Given the description of an element on the screen output the (x, y) to click on. 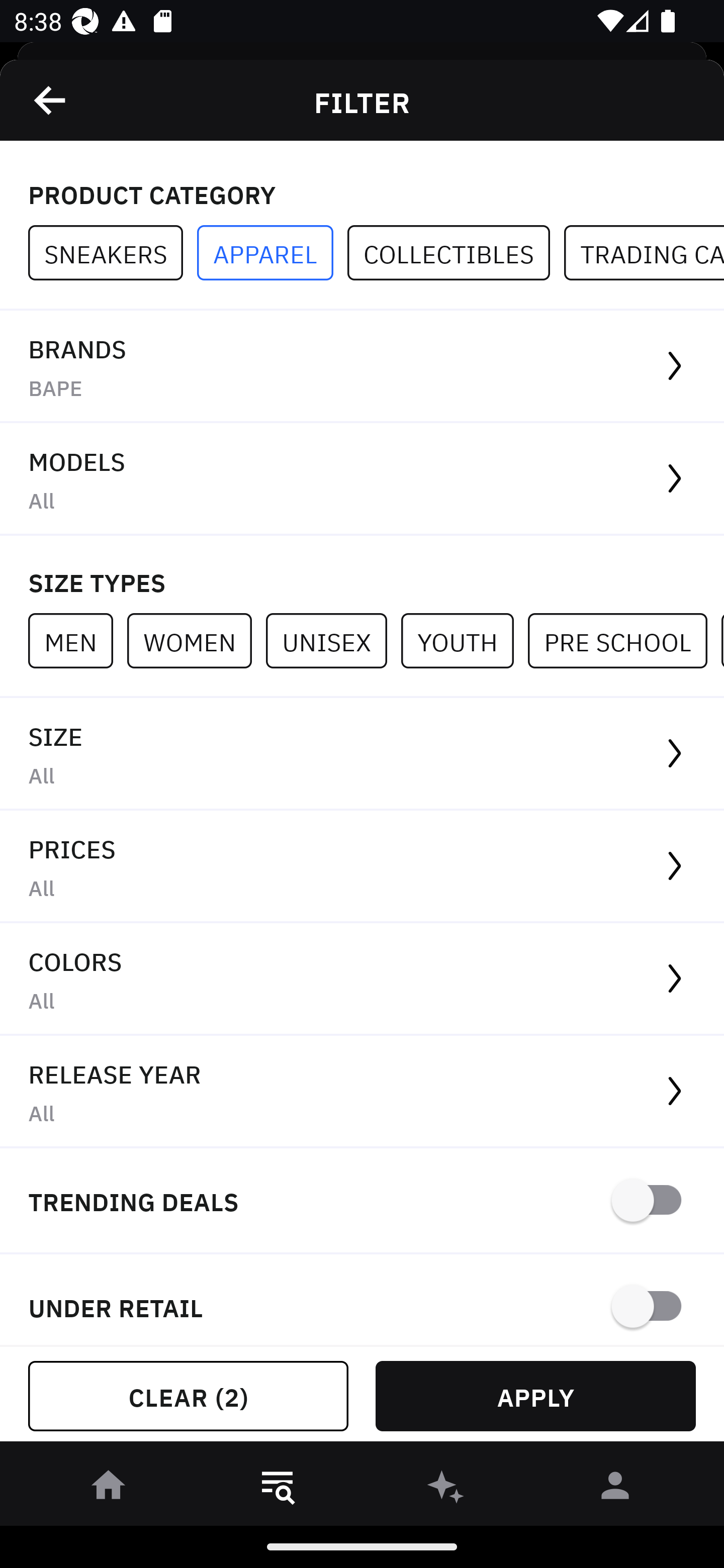
 (50, 100)
SNEAKERS (112, 252)
APPAREL (271, 252)
COLLECTIBLES (455, 252)
TRADING CARDS (643, 252)
BRANDS BAPE (362, 366)
MODELS All (362, 479)
MEN (77, 640)
WOMEN (196, 640)
UNISEX (333, 640)
YOUTH (464, 640)
PRE SCHOOL (624, 640)
SIZE All (362, 753)
PRICES All (362, 866)
COLORS All (362, 979)
RELEASE YEAR All (362, 1091)
TRENDING DEALS (362, 1200)
UNDER RETAIL (362, 1299)
CLEAR (2) (188, 1396)
APPLY (535, 1396)
󰋜 (108, 1488)
󱎸 (277, 1488)
󰫢 (446, 1488)
󰀄 (615, 1488)
